Given the description of an element on the screen output the (x, y) to click on. 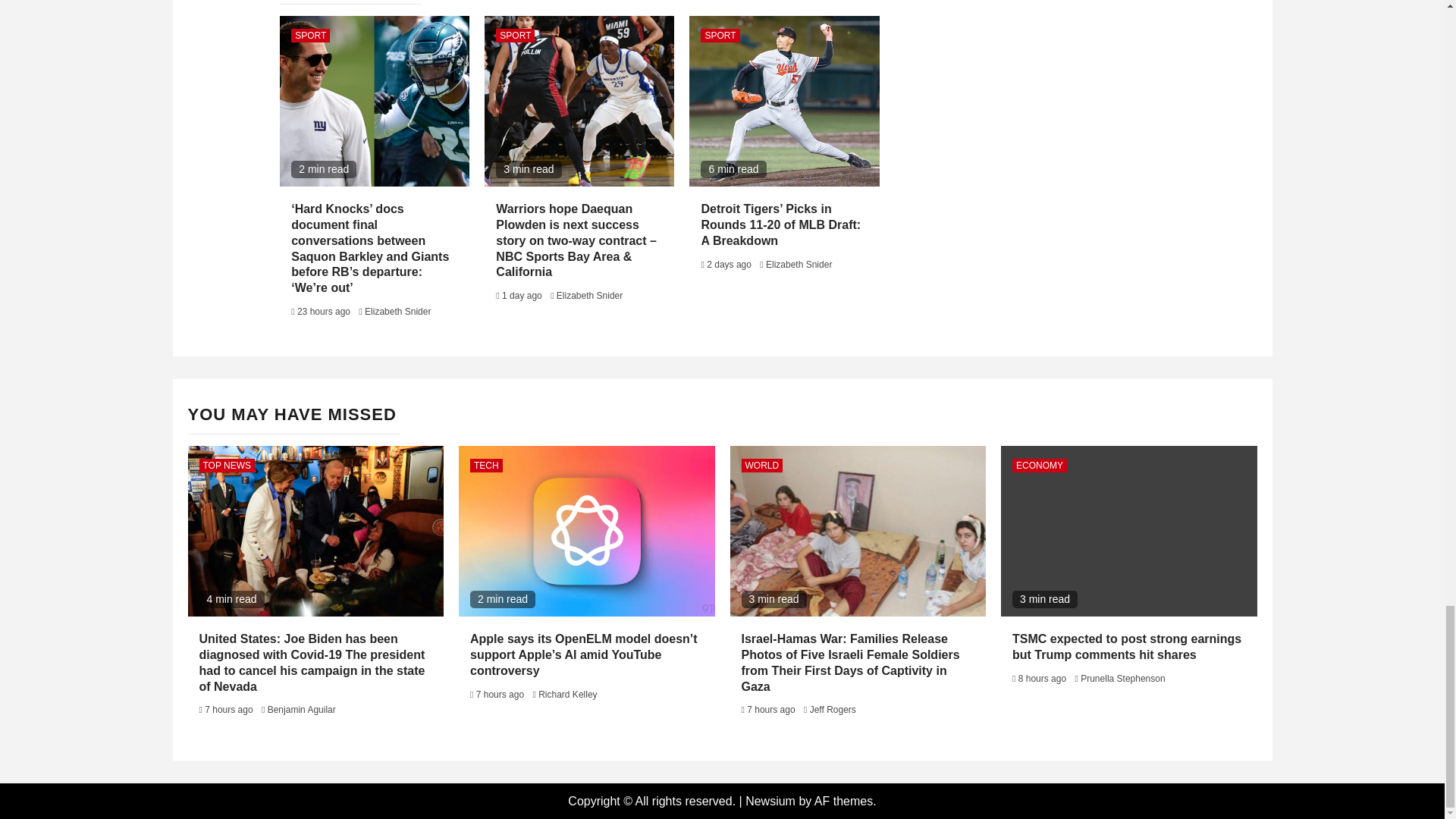
SPORT (515, 35)
Elizabeth Snider (397, 311)
SPORT (310, 35)
Elizabeth Snider (589, 295)
SPORT (719, 35)
Elizabeth Snider (798, 263)
